Given the description of an element on the screen output the (x, y) to click on. 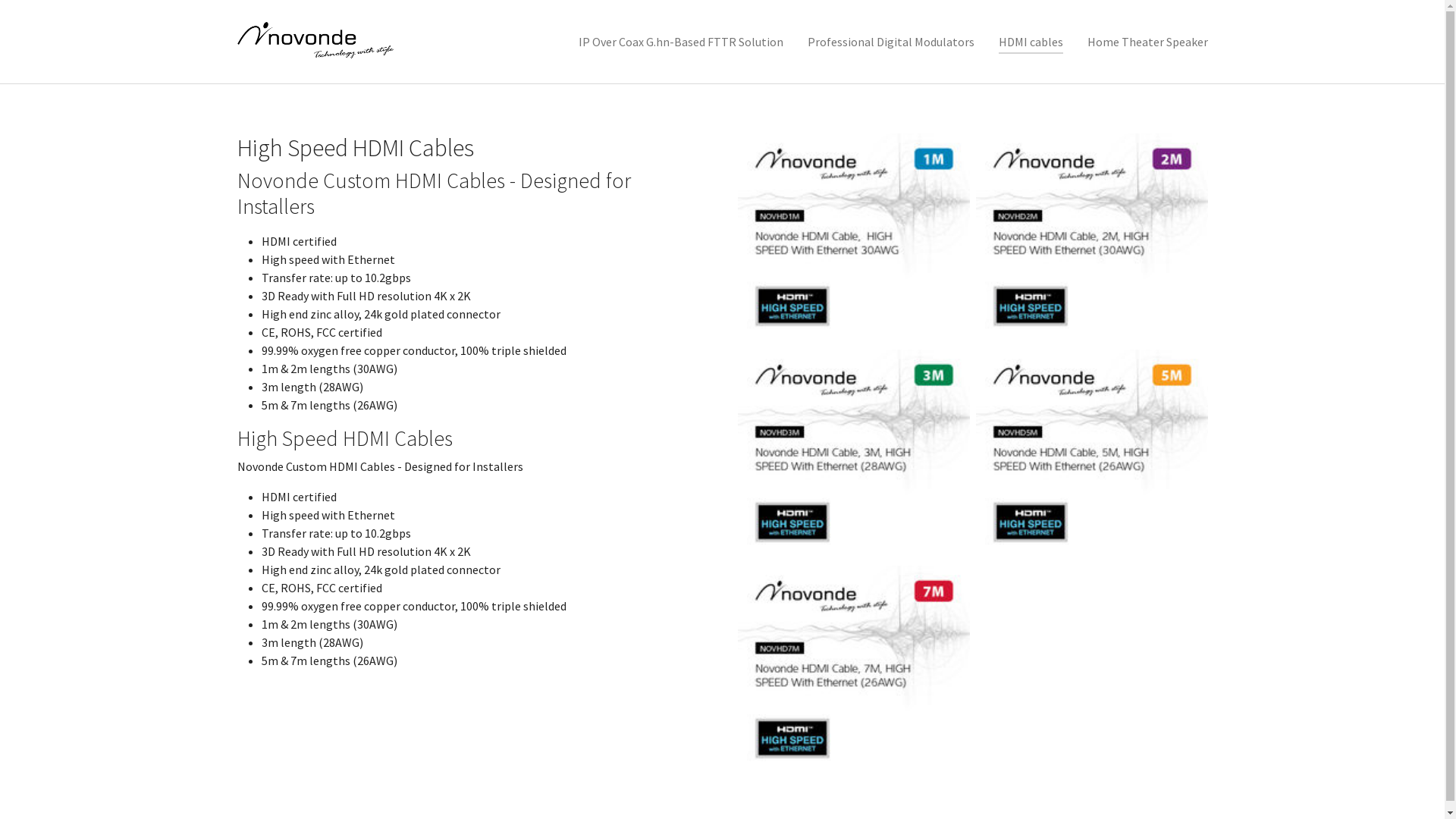
Home Theater Speaker Element type: text (1147, 41)
IP Over Coax G.hn-Based FTTR Solution Element type: text (679, 41)
Professional Digital Modulators Element type: text (889, 41)
HDMI cables
(current) Element type: text (1029, 41)
